Given the description of an element on the screen output the (x, y) to click on. 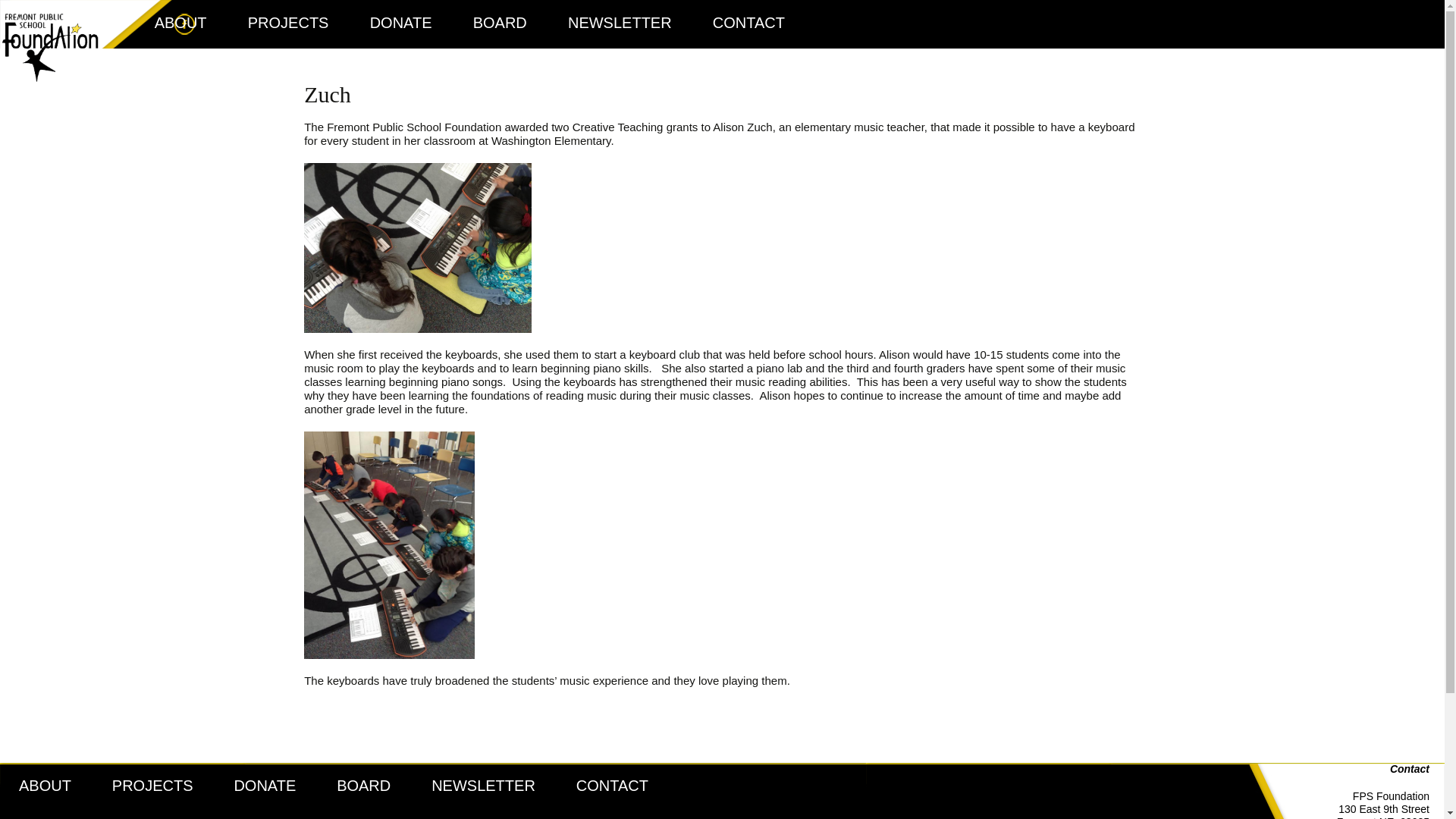
MAKE A DIFFERENCE (290, 813)
FACEBOOK (633, 813)
DONATE (264, 785)
NEWSLETTER (483, 785)
BOARD (363, 785)
ABOUT (180, 22)
FPS Foundation (49, 40)
DONATE (400, 22)
FACEBOOK (769, 67)
BOARD (500, 22)
TIGER TALK RADIO SHOW (624, 75)
PROJECTS (152, 785)
TIGER TALK RADIO SHOW (488, 813)
ABOUT (45, 785)
CONTACT (748, 22)
